Given the description of an element on the screen output the (x, y) to click on. 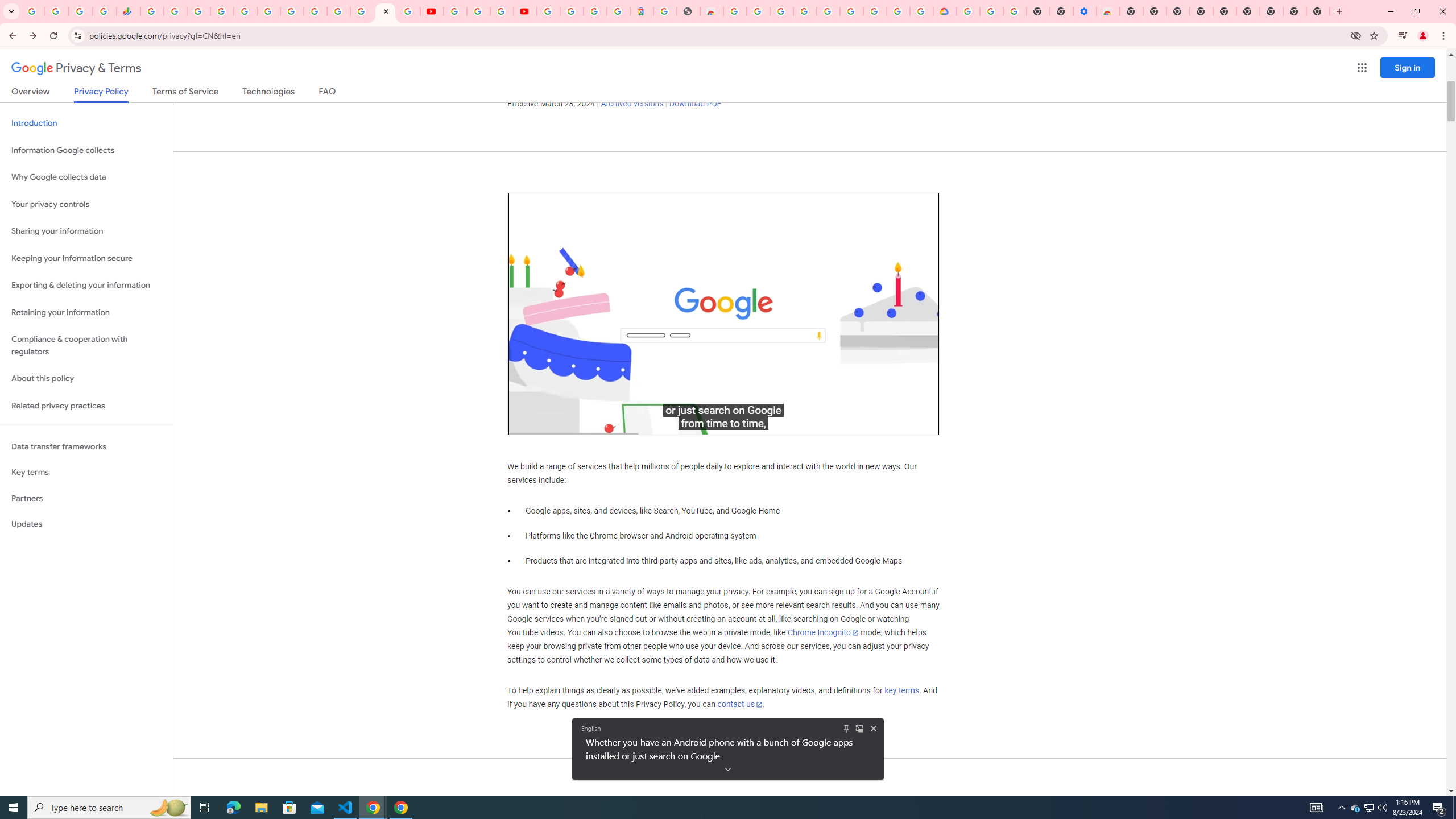
Chrome Web Store - Household (711, 11)
Atour Hotel - Google hotels (641, 11)
About this policy (86, 379)
Browse the Google Chrome Community - Google Chrome Community (921, 11)
Sign in - Google Accounts (338, 11)
Create your Google Account (501, 11)
Full screen (f) (920, 422)
Sign in - Google Accounts (547, 11)
